Given the description of an element on the screen output the (x, y) to click on. 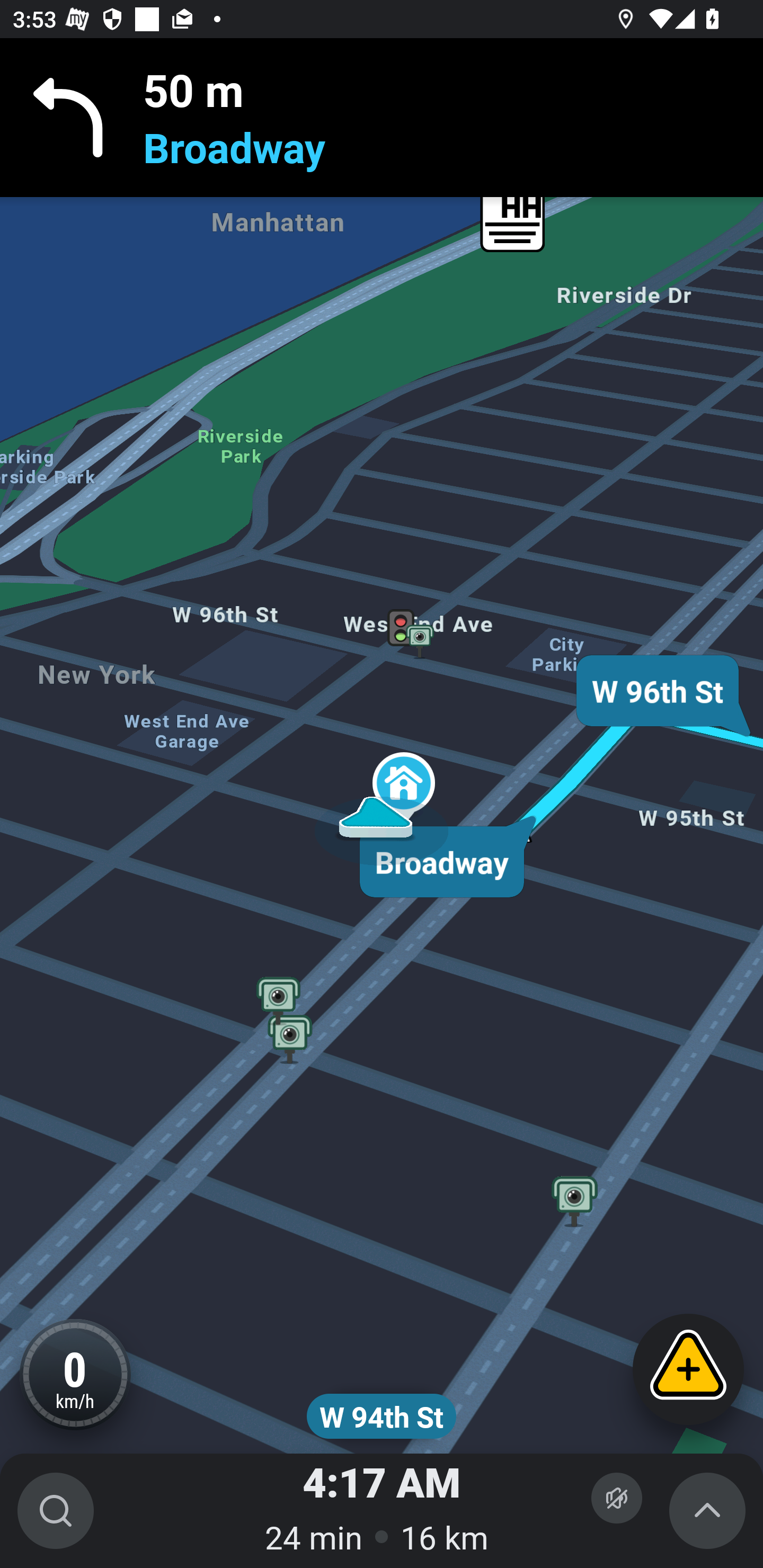
50 m Broadway (381, 117)
4:17 AM 24 min 16 km (381, 1510)
